Given the description of an element on the screen output the (x, y) to click on. 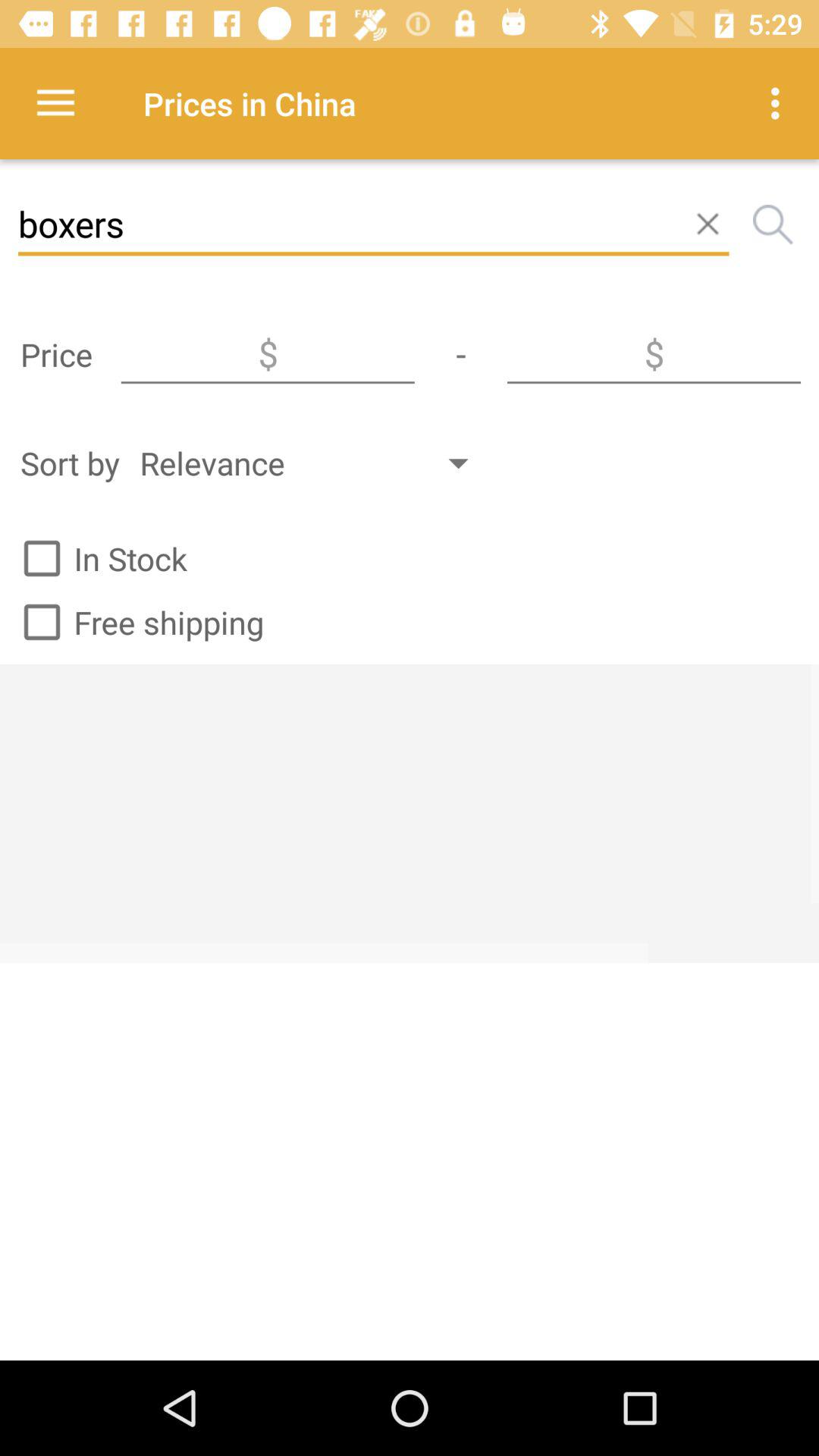
search (772, 224)
